Given the description of an element on the screen output the (x, y) to click on. 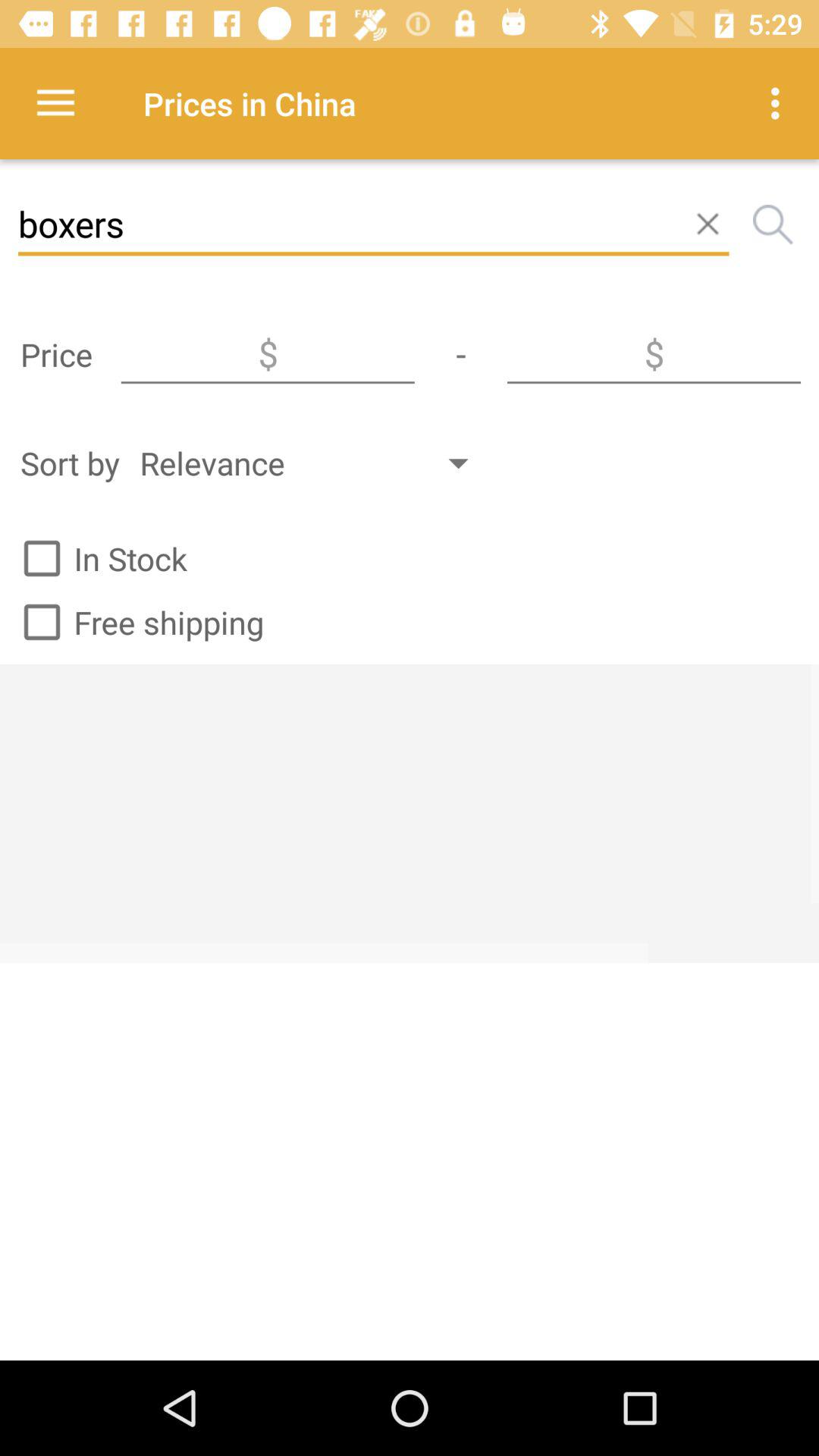
search (772, 224)
